Given the description of an element on the screen output the (x, y) to click on. 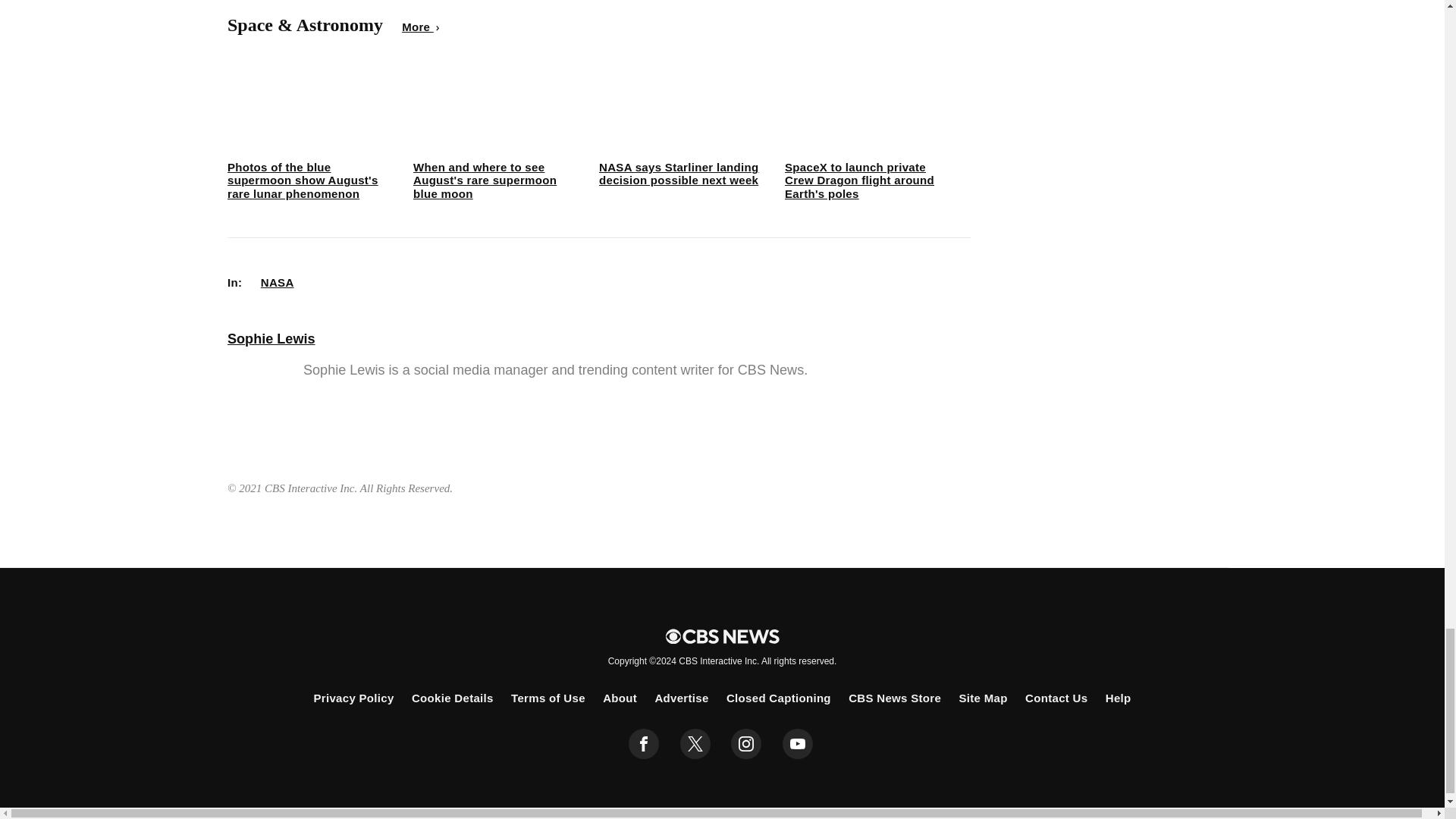
instagram (745, 743)
twitter (694, 743)
facebook (643, 743)
youtube (797, 743)
